Given the description of an element on the screen output the (x, y) to click on. 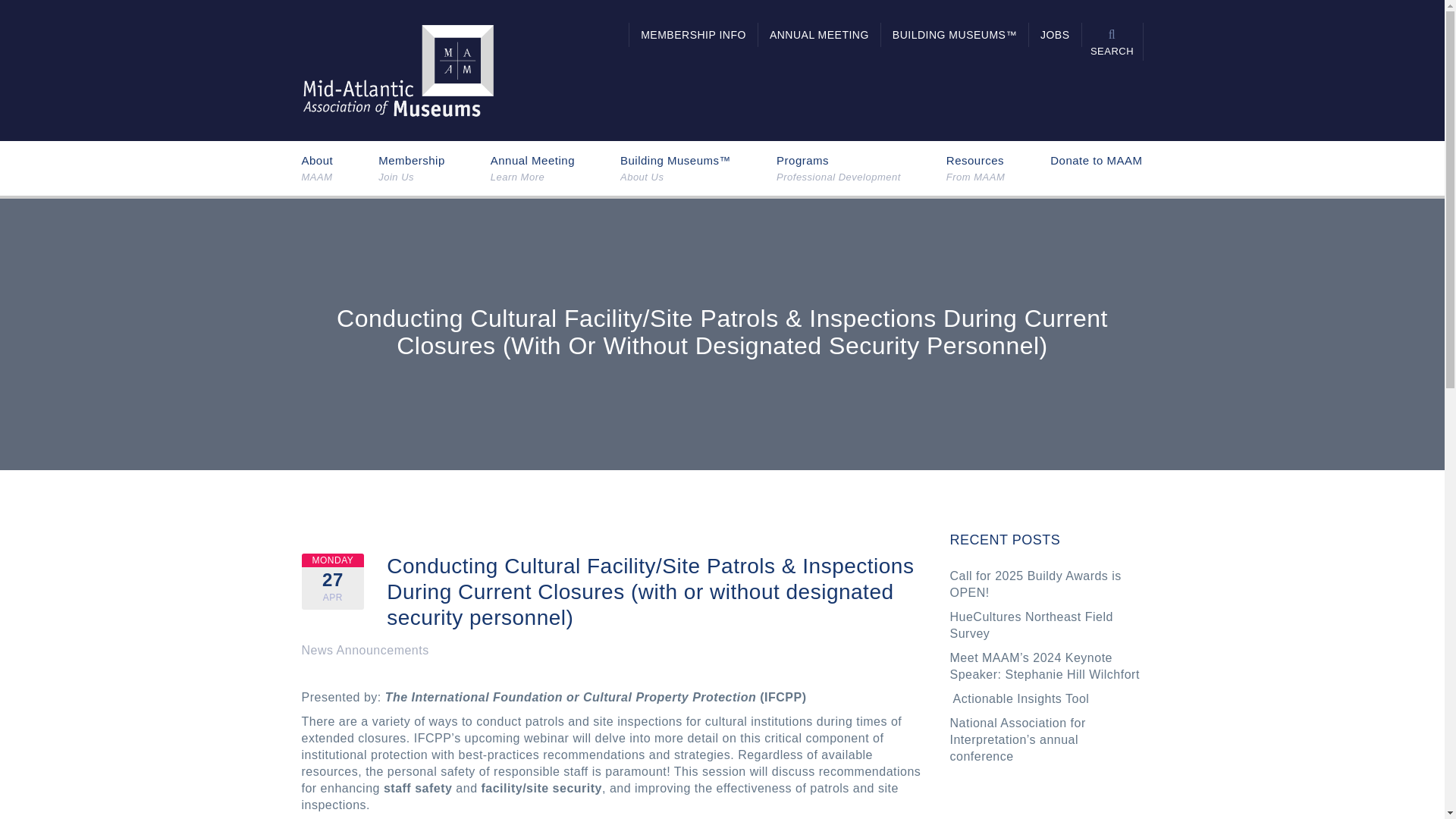
MEMBERSHIP INFO (692, 34)
News Announcements (365, 650)
Mid-Atlantic Association of Museums (398, 69)
ANNUAL MEETING (819, 34)
JOBS (411, 167)
SEARCH (532, 167)
